Given the description of an element on the screen output the (x, y) to click on. 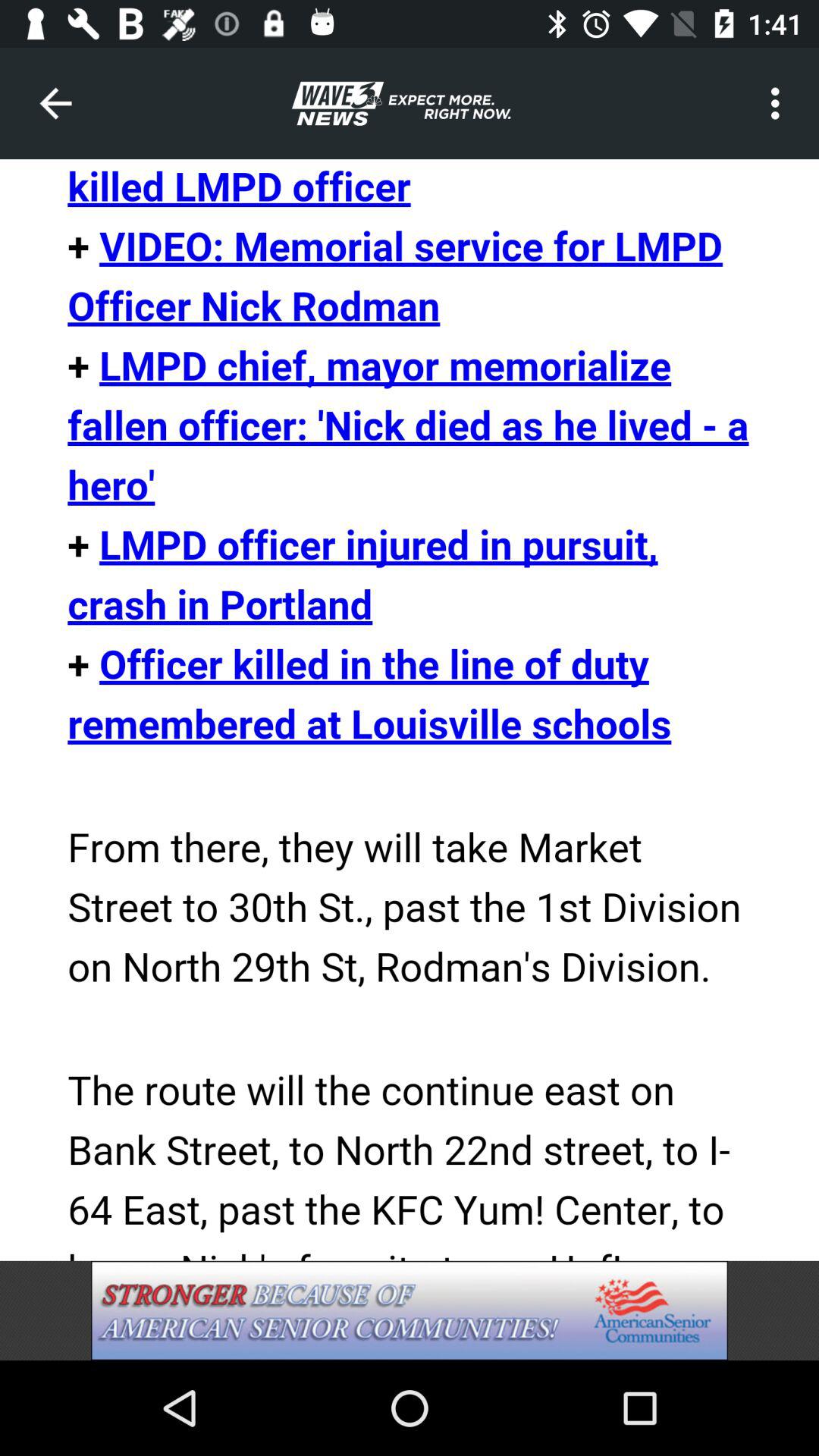
click to read article (409, 709)
